Given the description of an element on the screen output the (x, y) to click on. 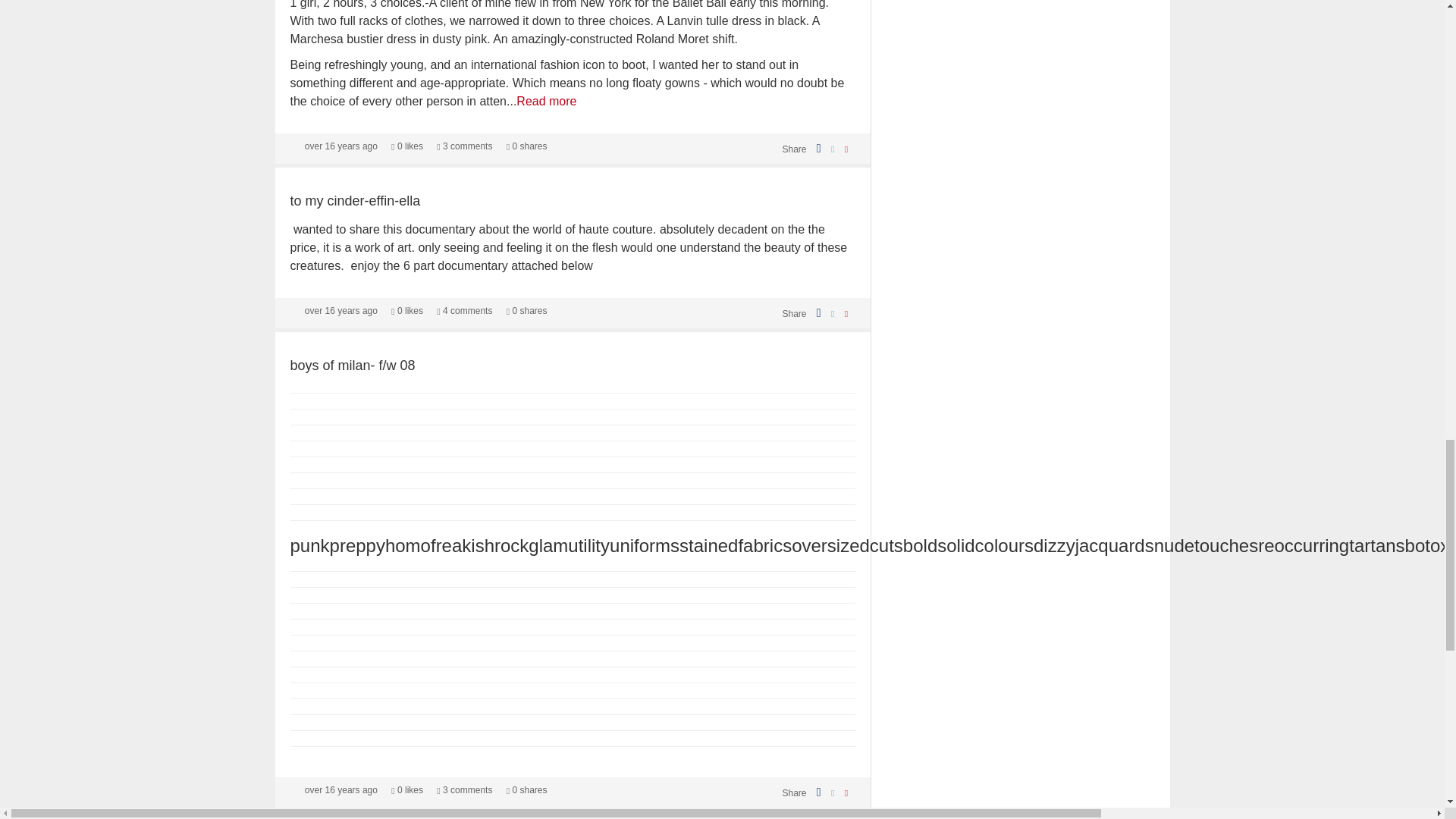
Read more (546, 101)
over 16 years ago (340, 145)
 3 comments (464, 145)
